Given the description of an element on the screen output the (x, y) to click on. 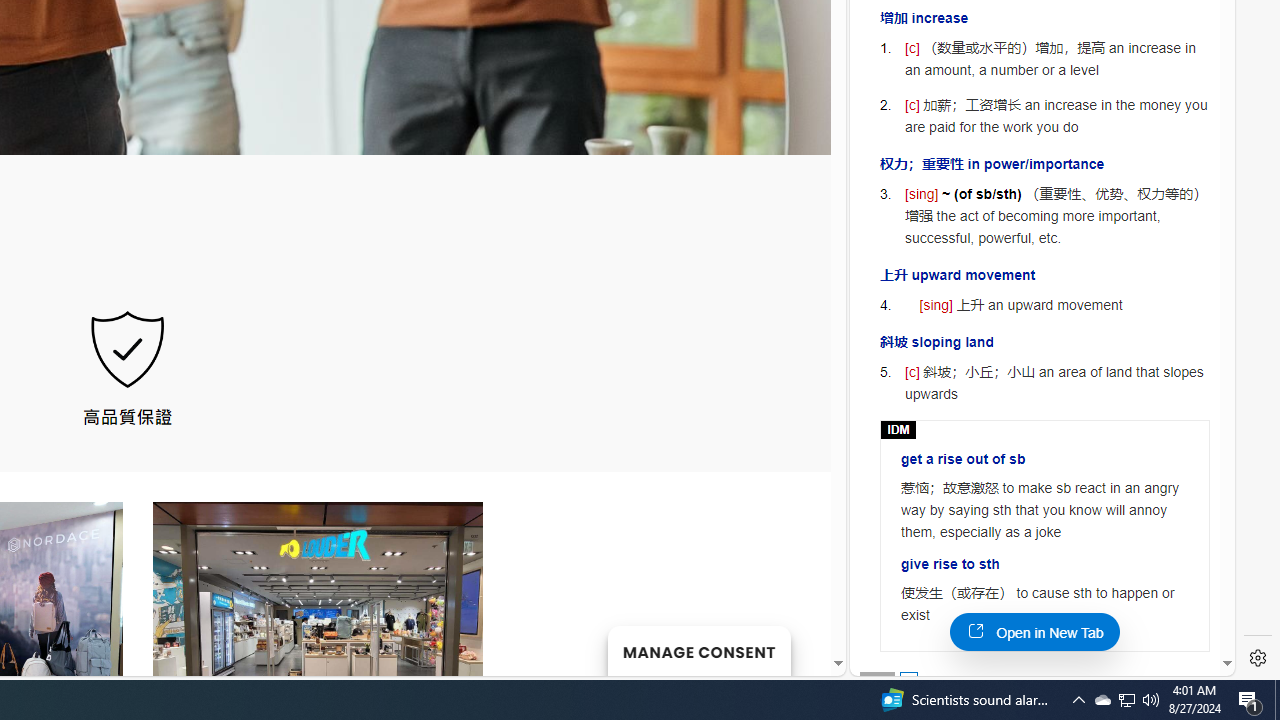
MANAGE CONSENT (698, 650)
AutomationID: posbtn_1 (908, 680)
